Given the description of an element on the screen output the (x, y) to click on. 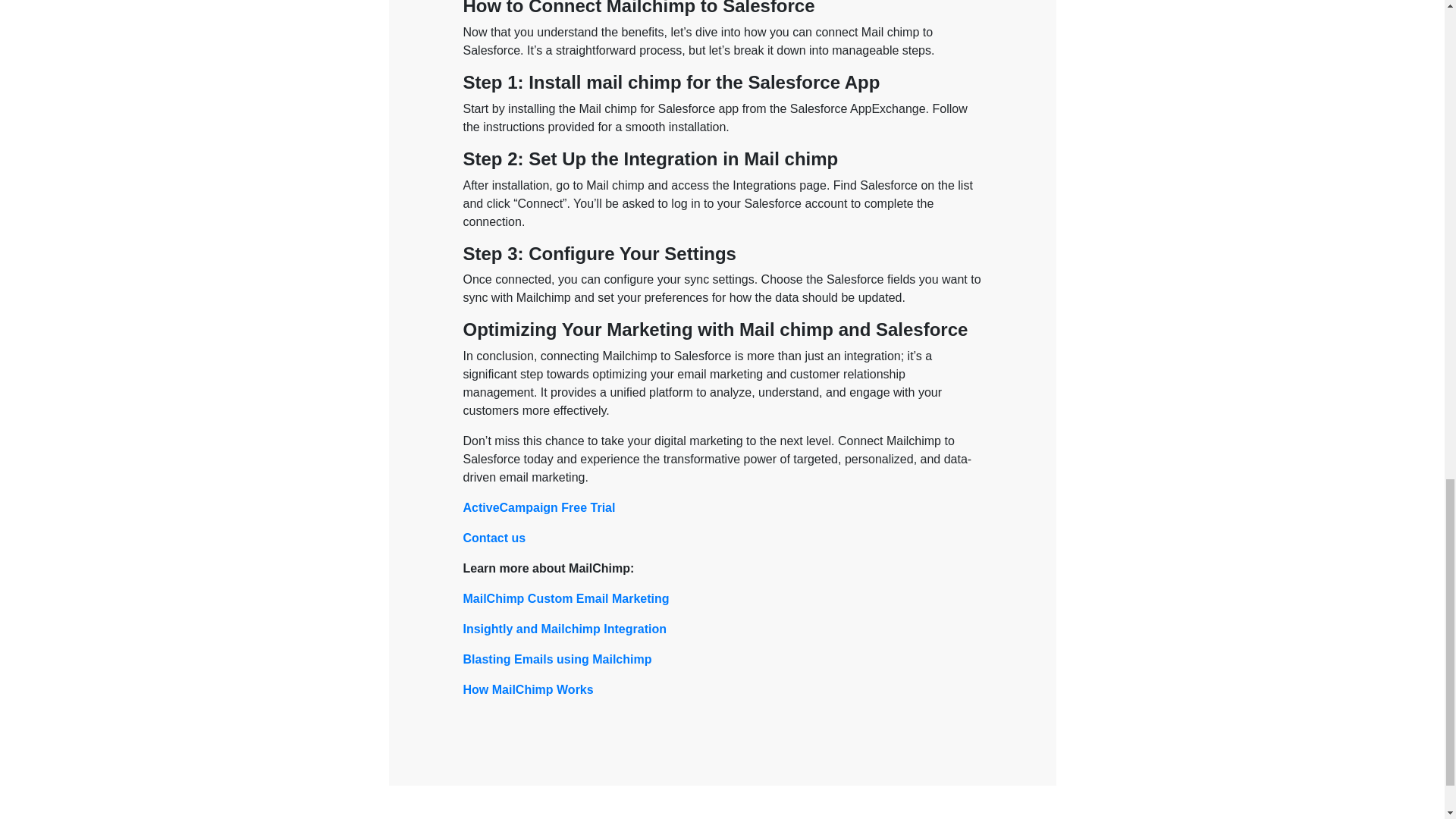
Blasting Emails using Mailchimp (556, 658)
Contact us (494, 537)
MailChimp Custom Email Marketing (565, 598)
Insightly and Mailchimp Integration (564, 628)
ActiveCampaign Free Trial (538, 507)
How MailChimp Works (527, 689)
